Given the description of an element on the screen output the (x, y) to click on. 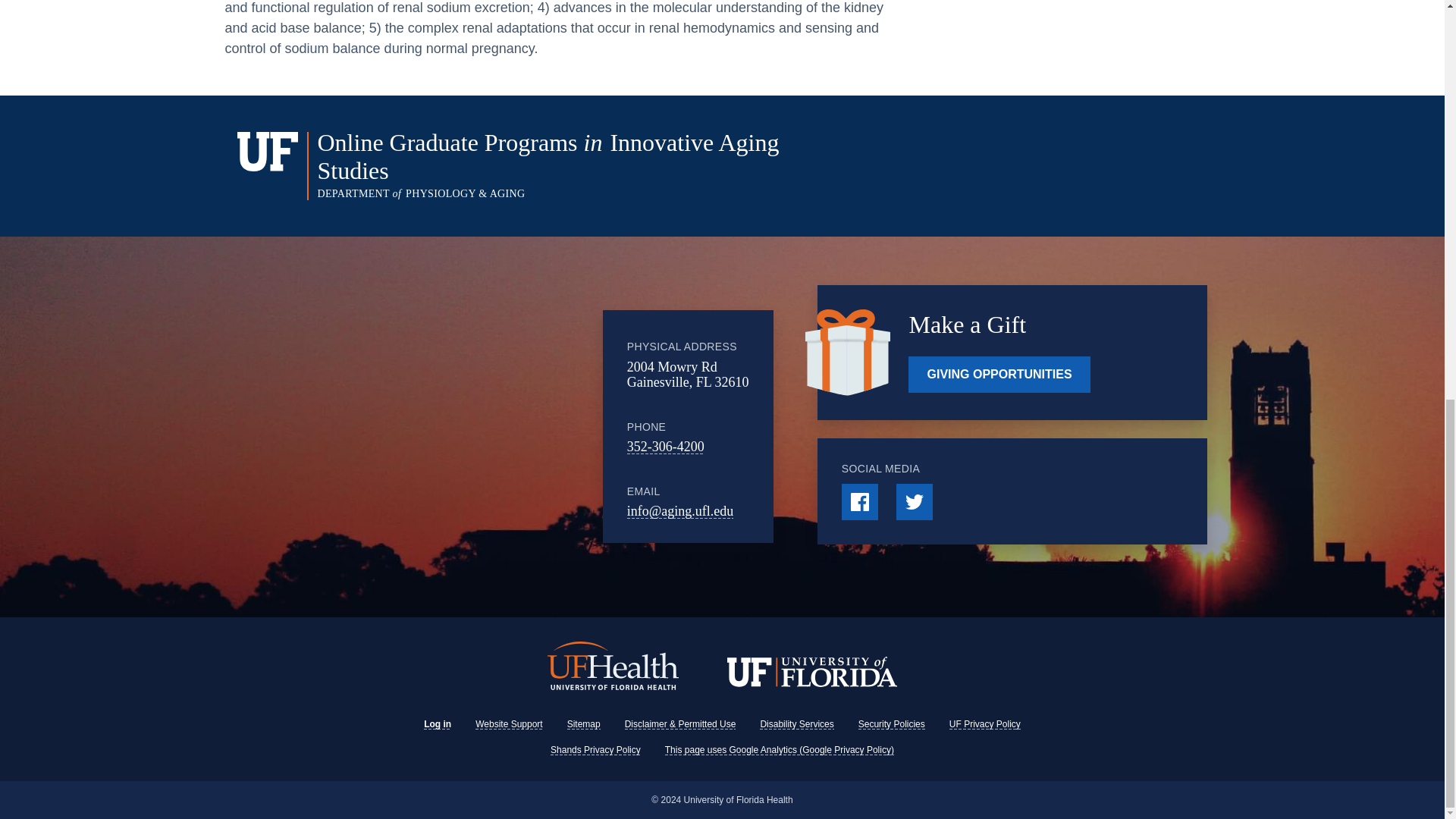
Security Policies (891, 724)
Disability Services (796, 724)
Google Maps Embed (478, 426)
Website Support (509, 724)
Shands Privacy Policy (595, 749)
Log in (437, 724)
Sitemap (583, 724)
UF Privacy Policy (984, 724)
352-306-4200 (665, 446)
